Given the description of an element on the screen output the (x, y) to click on. 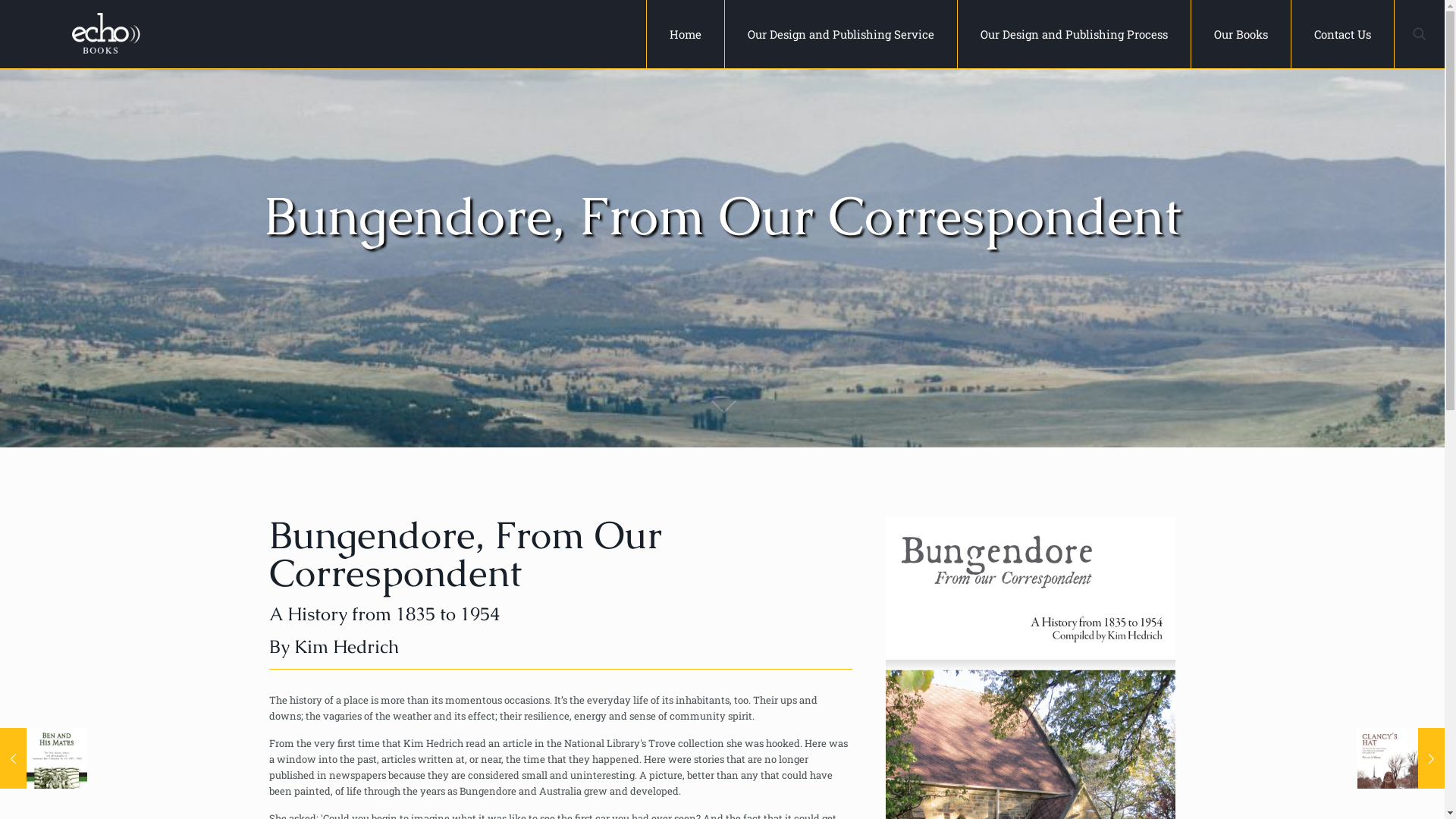
Our Design and Publishing Process Element type: text (767, 764)
Contact Us Element type: text (722, 615)
Privacy Policy Element type: text (814, 741)
Echo Books Element type: hover (106, 34)
Home Element type: text (489, 764)
Our Design and Publishing Process Element type: text (1074, 34)
Our Design and Publishing Service Element type: text (840, 34)
Our Books Element type: text (1241, 34)
Home Element type: text (685, 34)
Contact Us Element type: text (1342, 34)
Our Design and Publishing Service Element type: text (595, 764)
Our Books Element type: text (882, 764)
Contact Us Element type: text (943, 764)
